Given the description of an element on the screen output the (x, y) to click on. 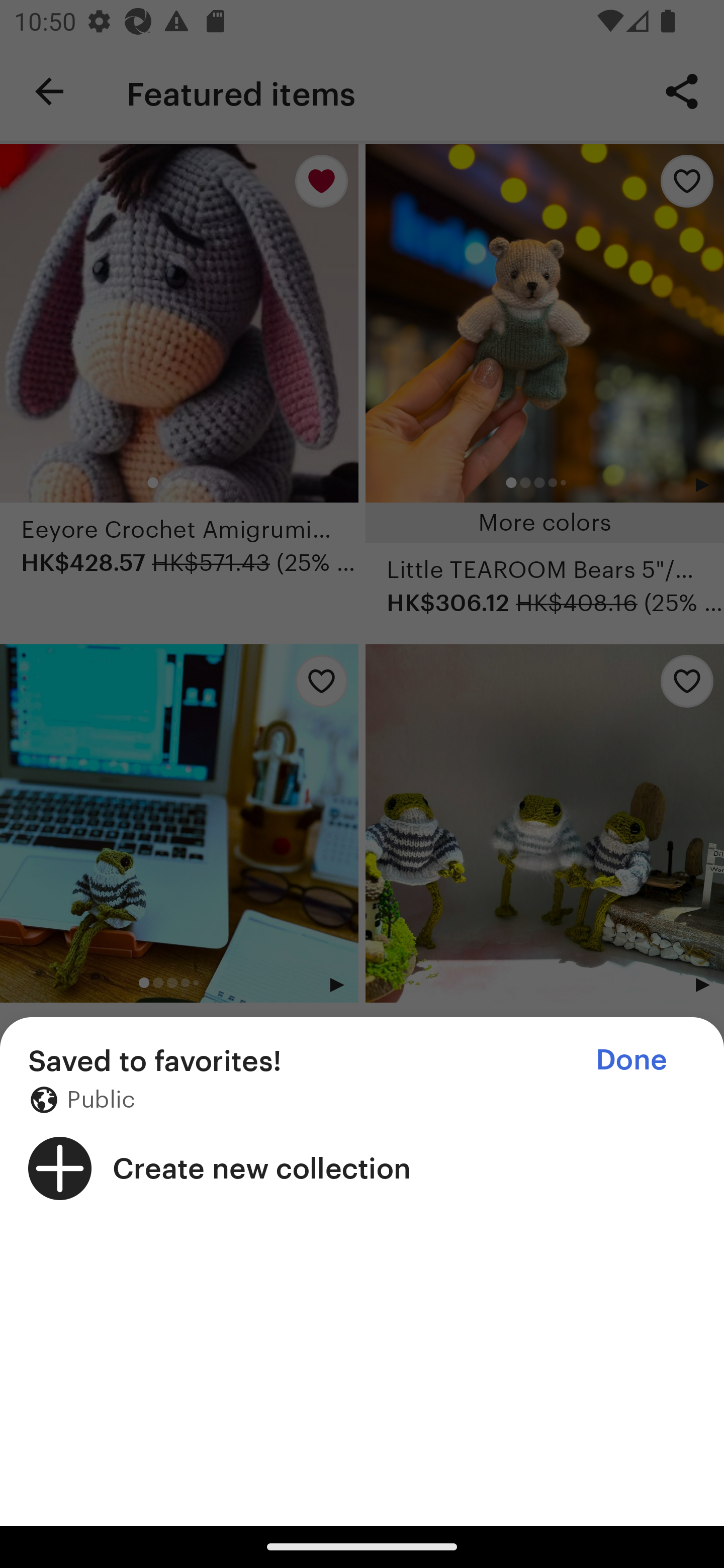
Done (630, 1059)
Create new collection (361, 1167)
